Given the description of an element on the screen output the (x, y) to click on. 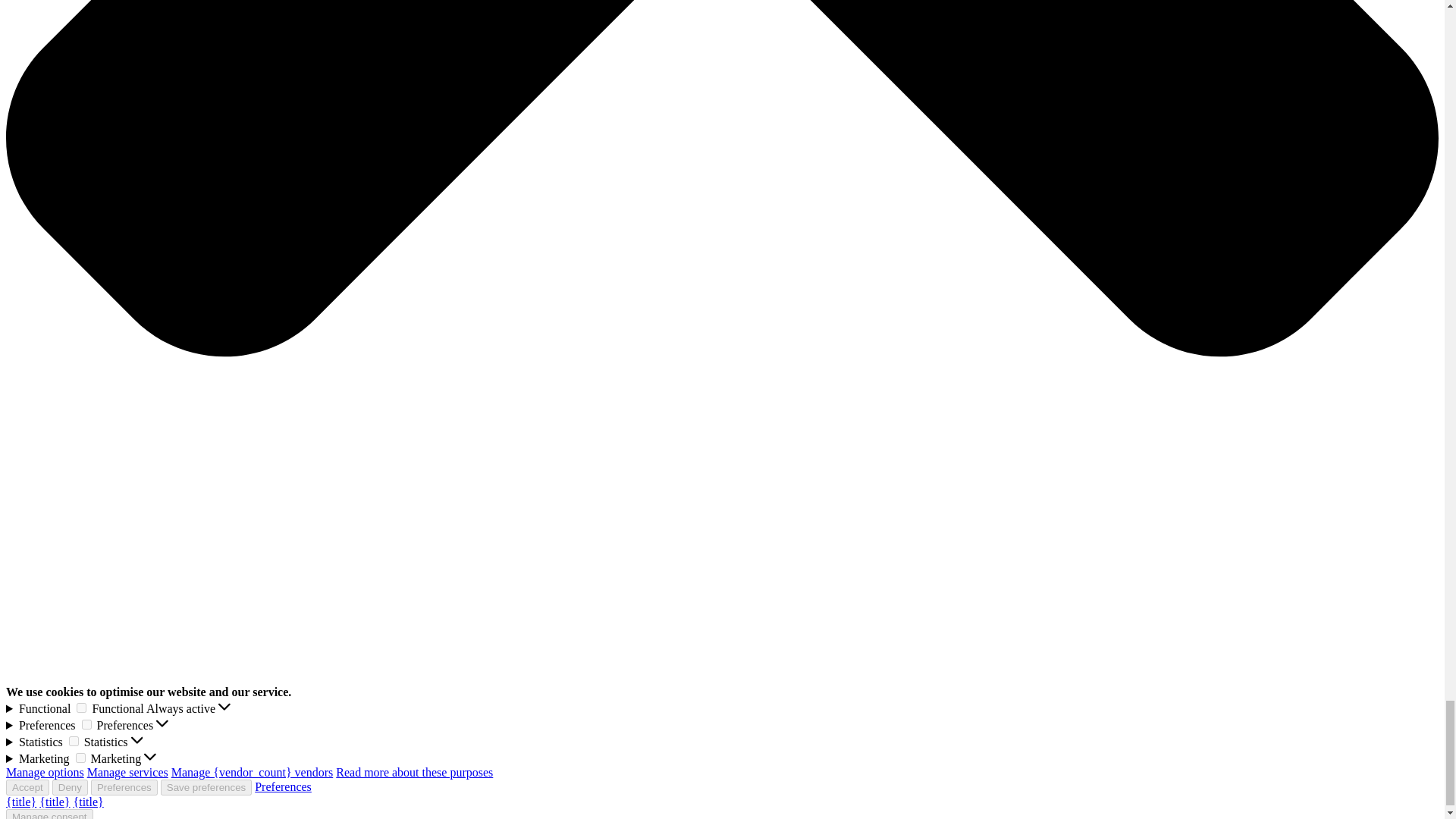
1 (86, 724)
1 (73, 741)
1 (81, 707)
1 (80, 757)
